Given the description of an element on the screen output the (x, y) to click on. 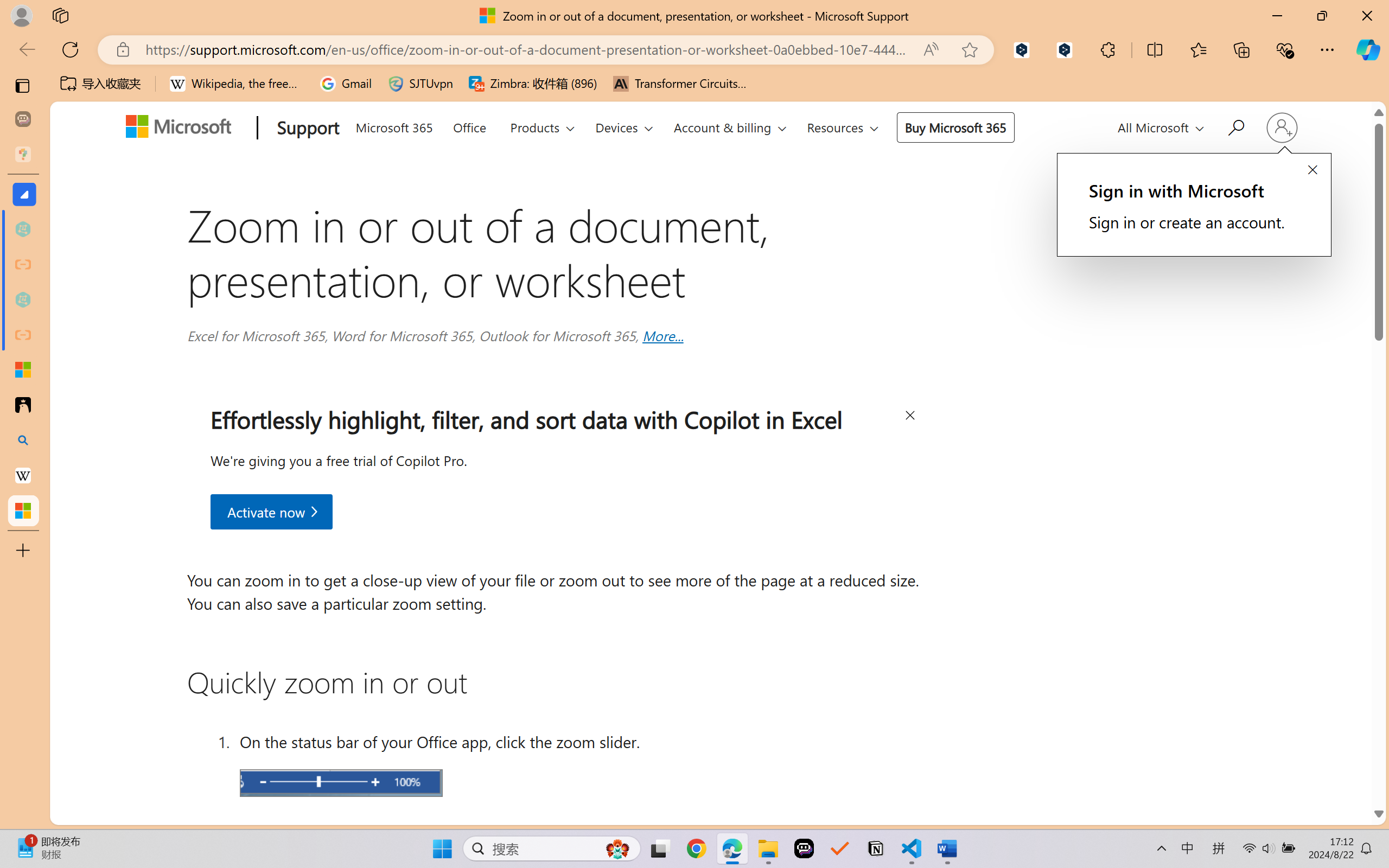
Microsoft (182, 128)
Office (469, 125)
Close callout prompt. (1311, 170)
Sign in to your account (1281, 127)
Zoom slider (340, 782)
